Given the description of an element on the screen output the (x, y) to click on. 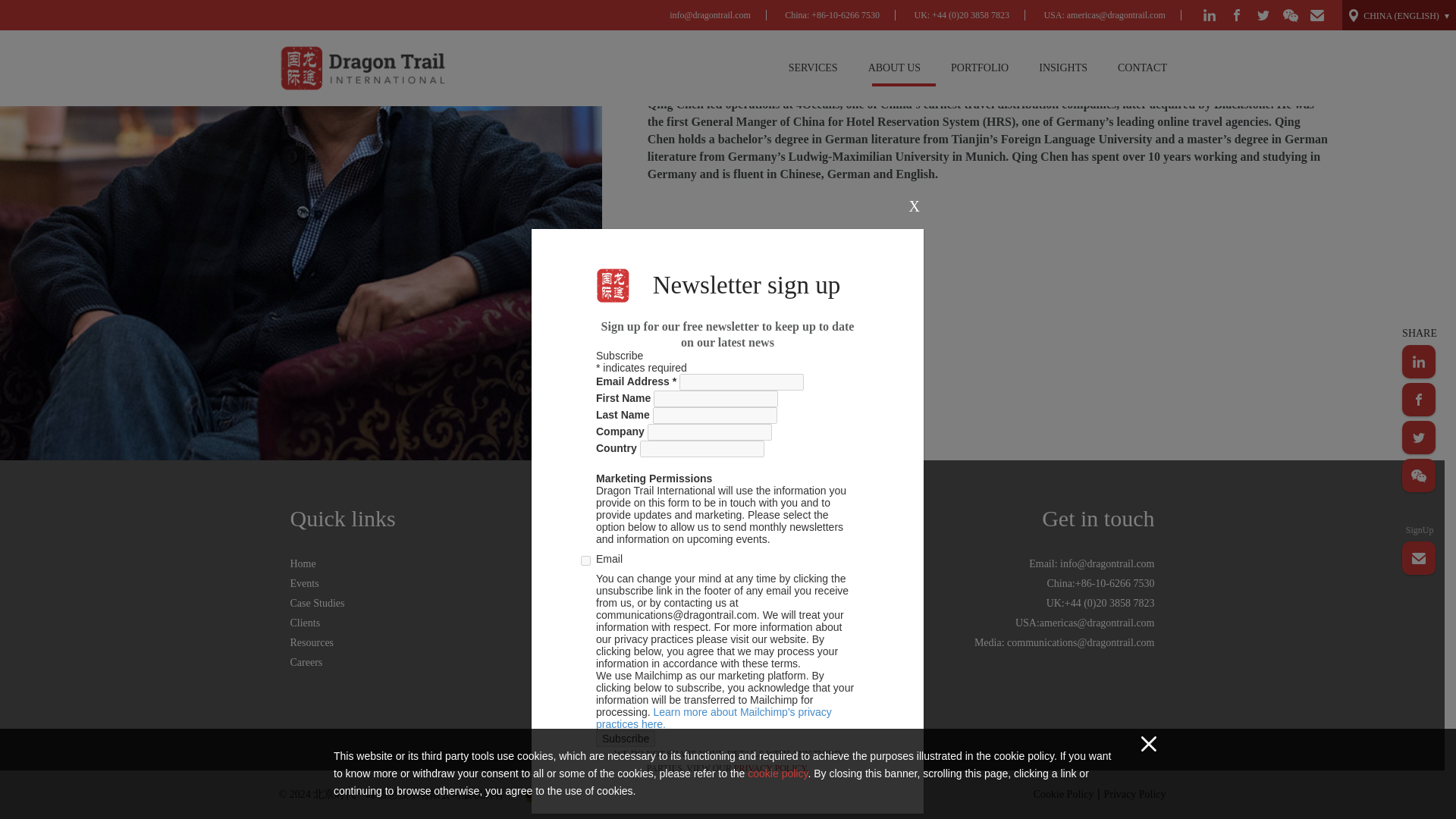
Subscribe (625, 127)
